Given the description of an element on the screen output the (x, y) to click on. 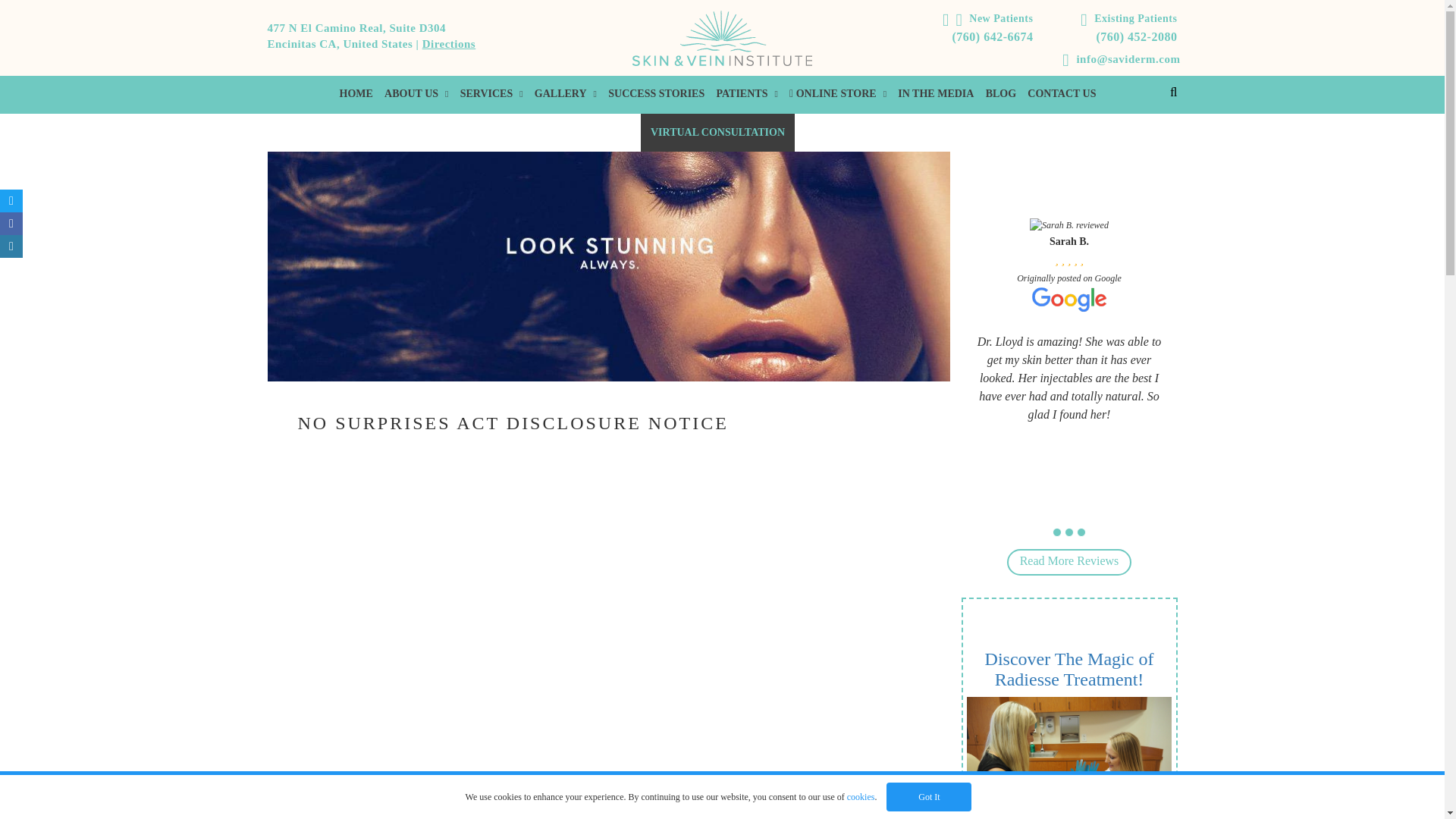
Directions (449, 43)
ABOUT US (416, 93)
SERVICES (491, 93)
HOME (355, 93)
